Given the description of an element on the screen output the (x, y) to click on. 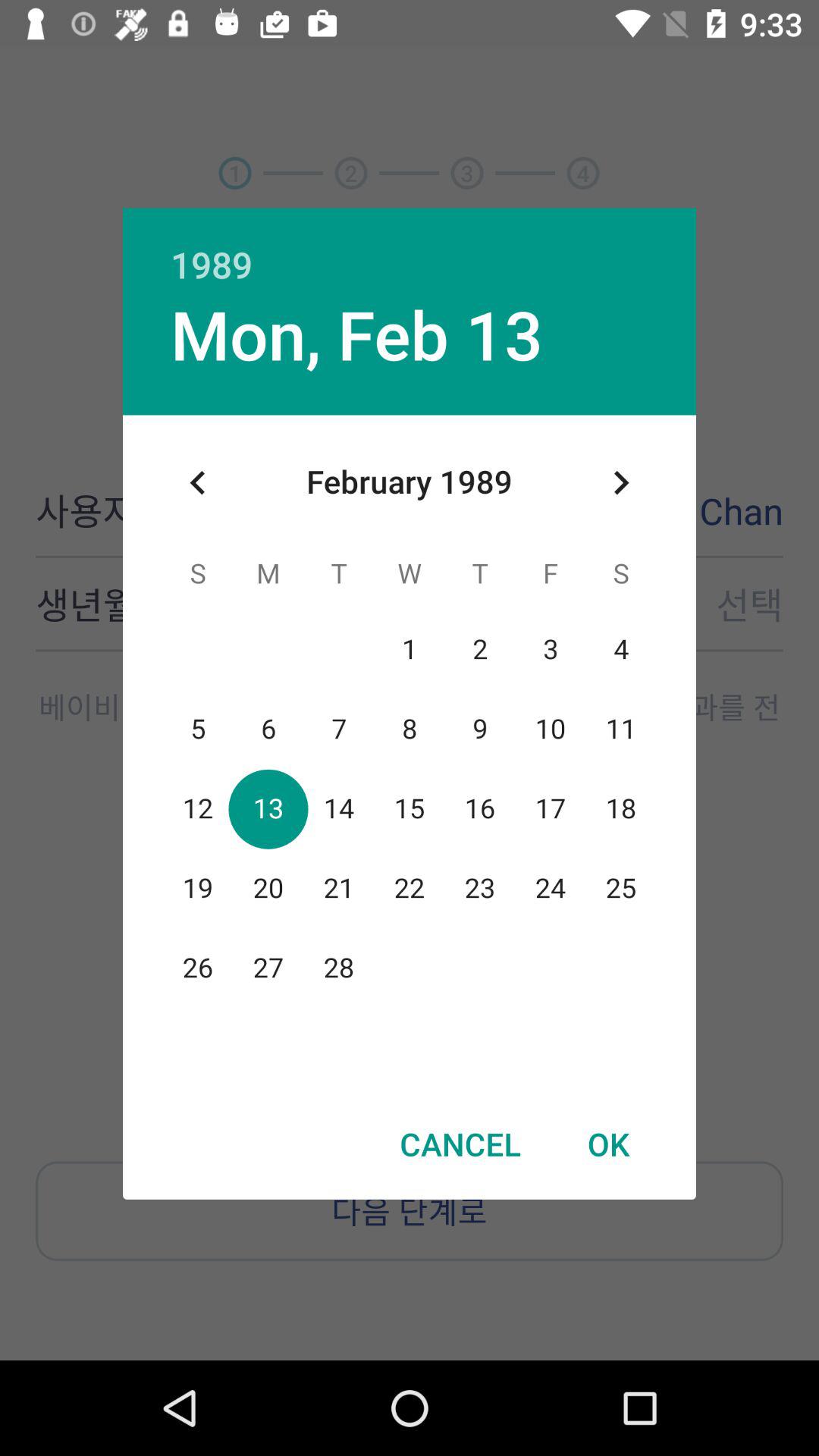
select icon below 1989 (620, 482)
